Given the description of an element on the screen output the (x, y) to click on. 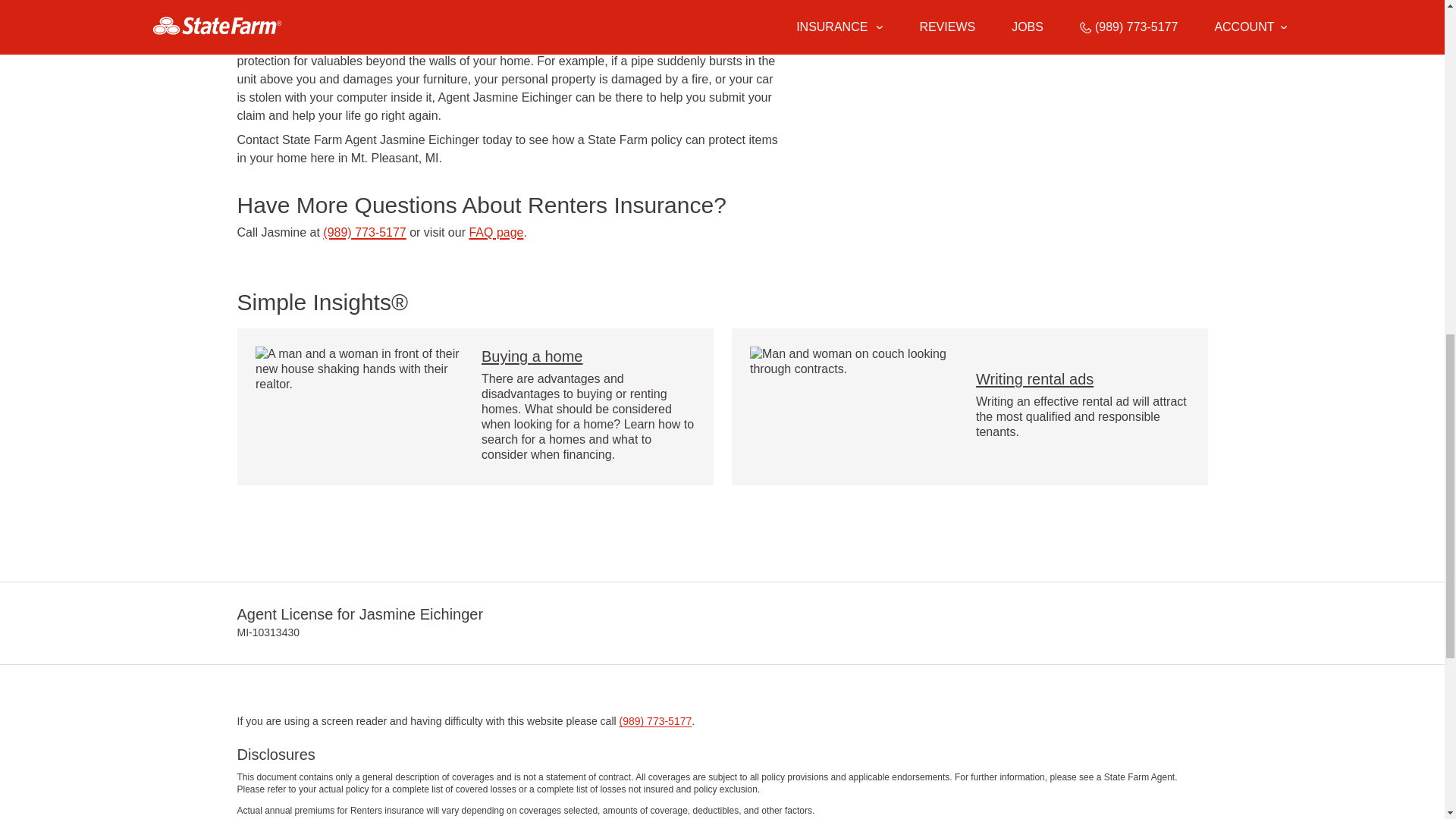
FAQ page (495, 232)
